Given the description of an element on the screen output the (x, y) to click on. 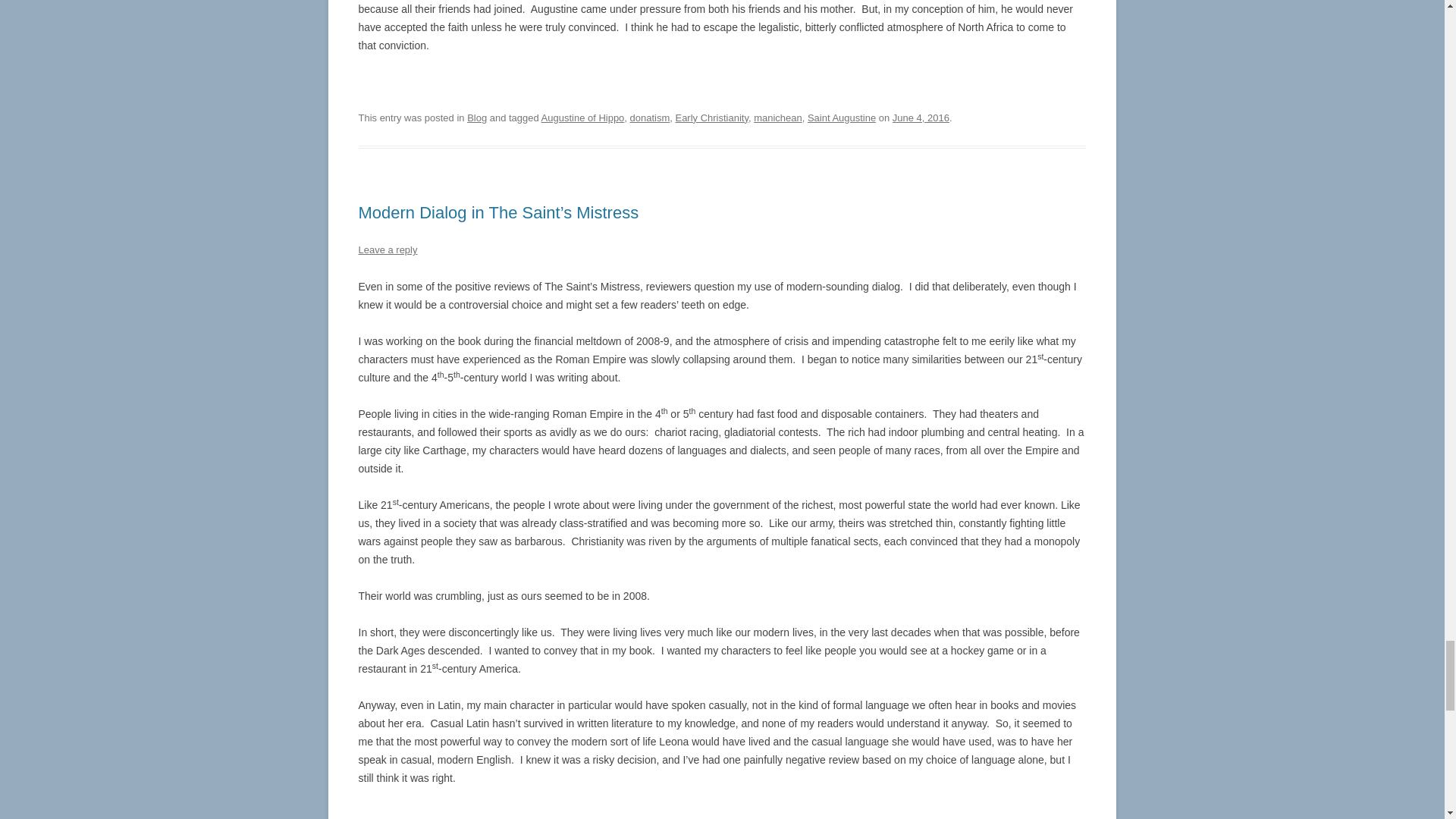
11:15 pm (920, 117)
